Given the description of an element on the screen output the (x, y) to click on. 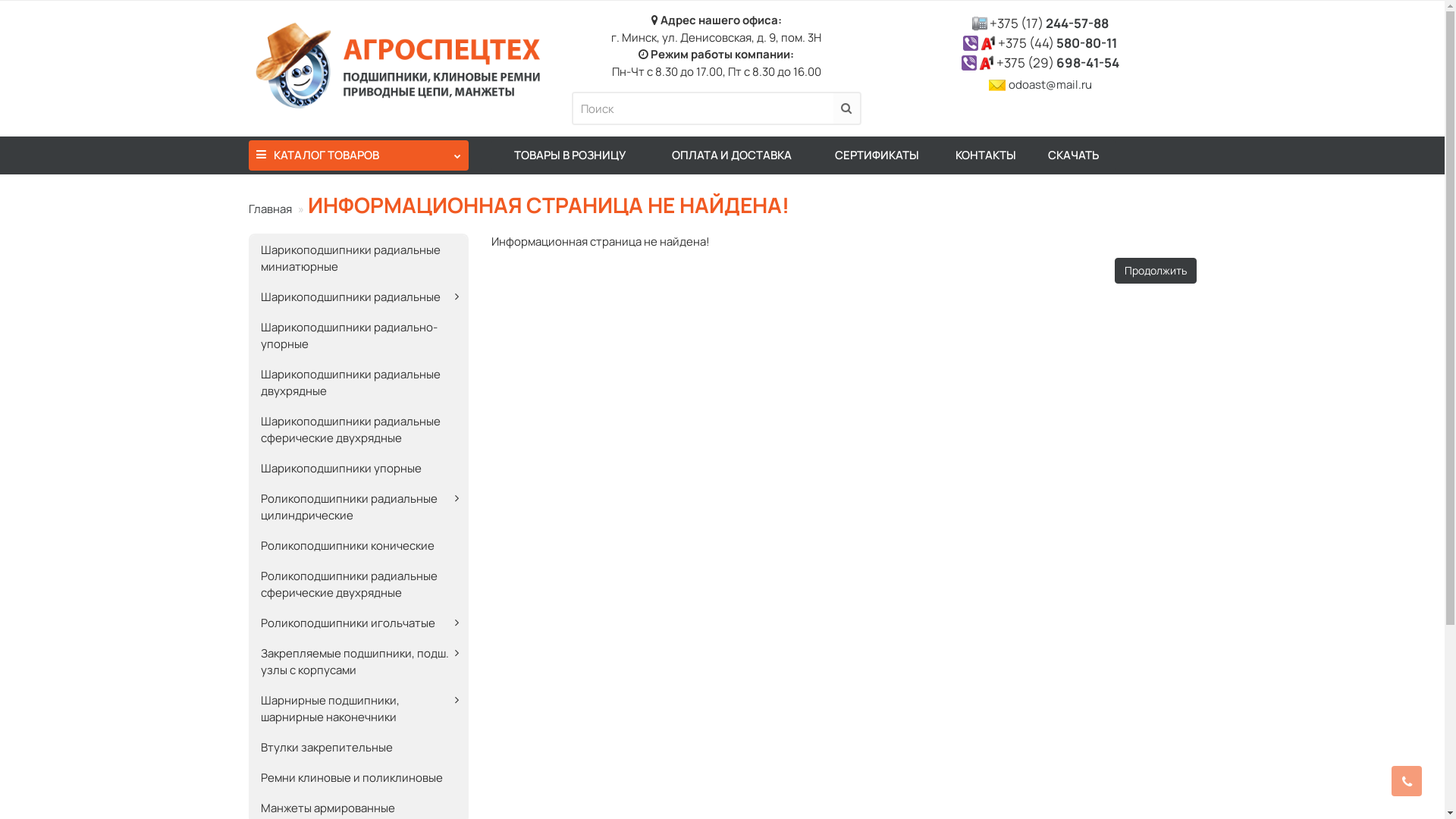
+375 (44) 580-80-11 Element type: text (1057, 42)
+375 (17) 244-57-88 Element type: text (1048, 22)
+375 (29) 698-41-54 Element type: text (1057, 62)
odoast@mail.ru Element type: text (1050, 84)
